Given the description of an element on the screen output the (x, y) to click on. 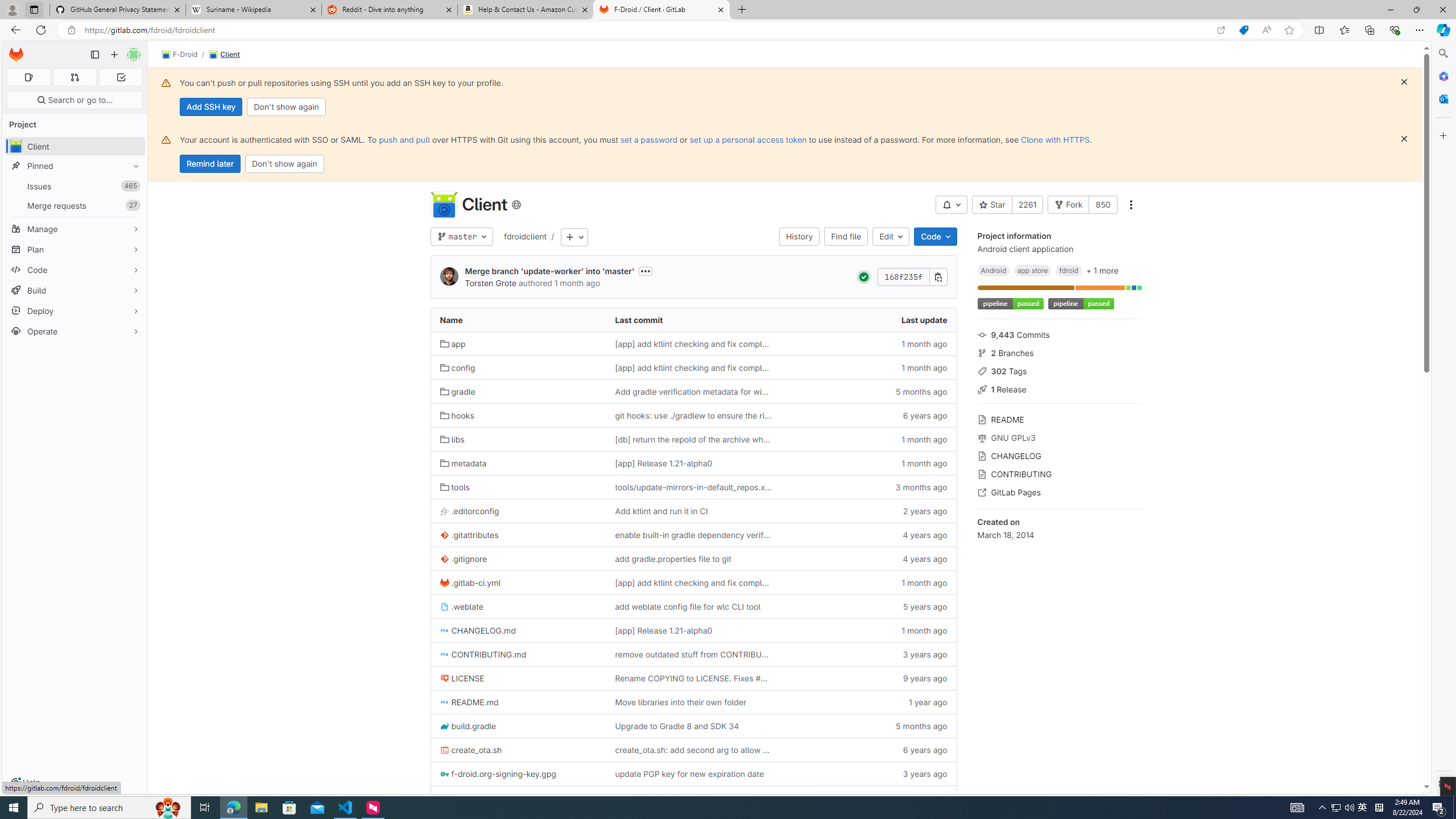
Torsten Grote (490, 283)
Android (993, 269)
update PGP key for new expiration date (693, 773)
avatar Client (74, 145)
create_ota.sh (470, 749)
Open in app (1220, 29)
tools (517, 487)
Name (517, 319)
Project badge (1080, 303)
Upgrade to Gradle 8 and SDK 34 (676, 725)
build.gradle (517, 725)
Assigned issues 0 (28, 76)
Unpin Merge requests (132, 205)
add gradle.properties file to git (693, 558)
